Given the description of an element on the screen output the (x, y) to click on. 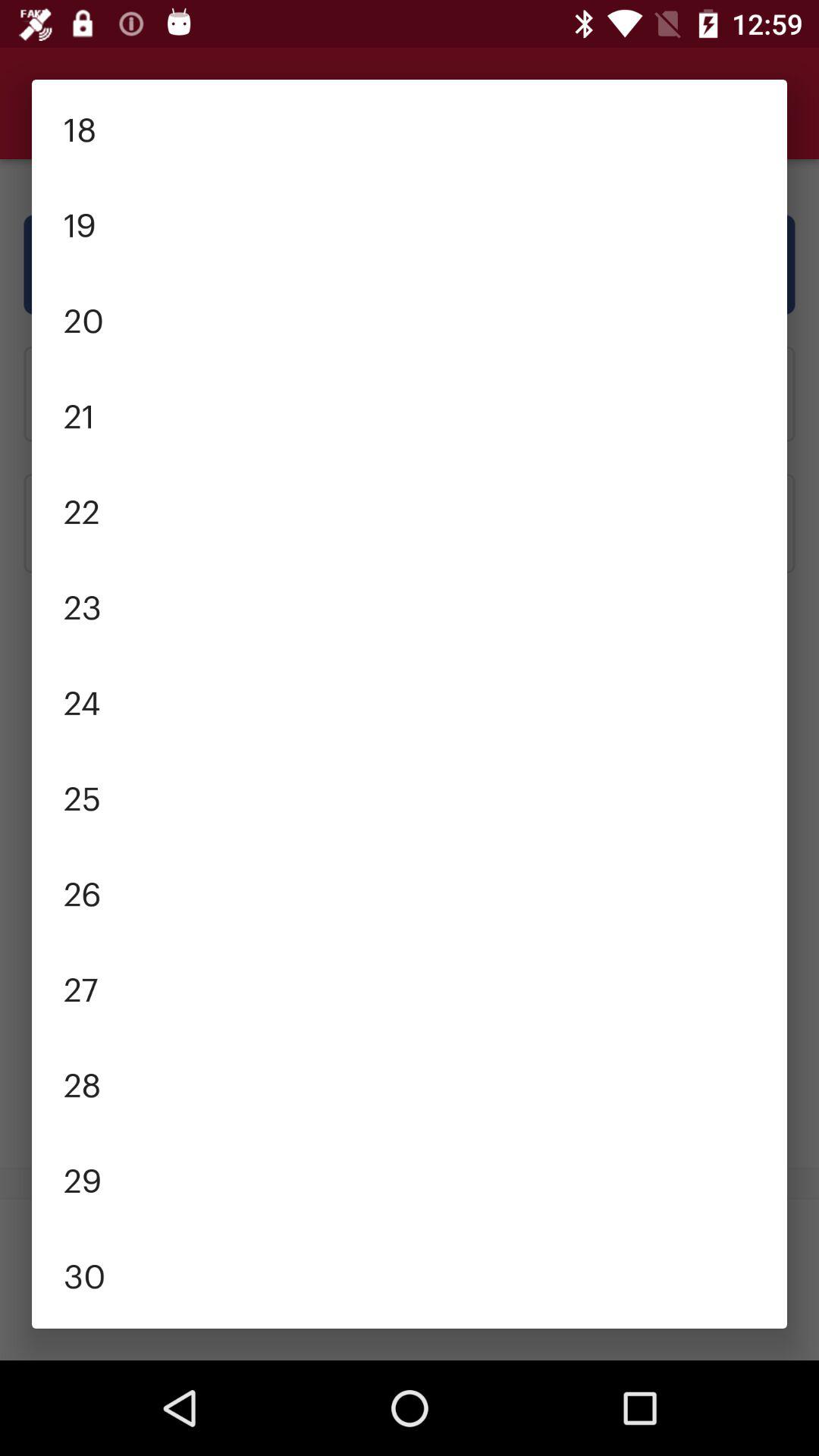
jump until the 19 item (409, 222)
